Given the description of an element on the screen output the (x, y) to click on. 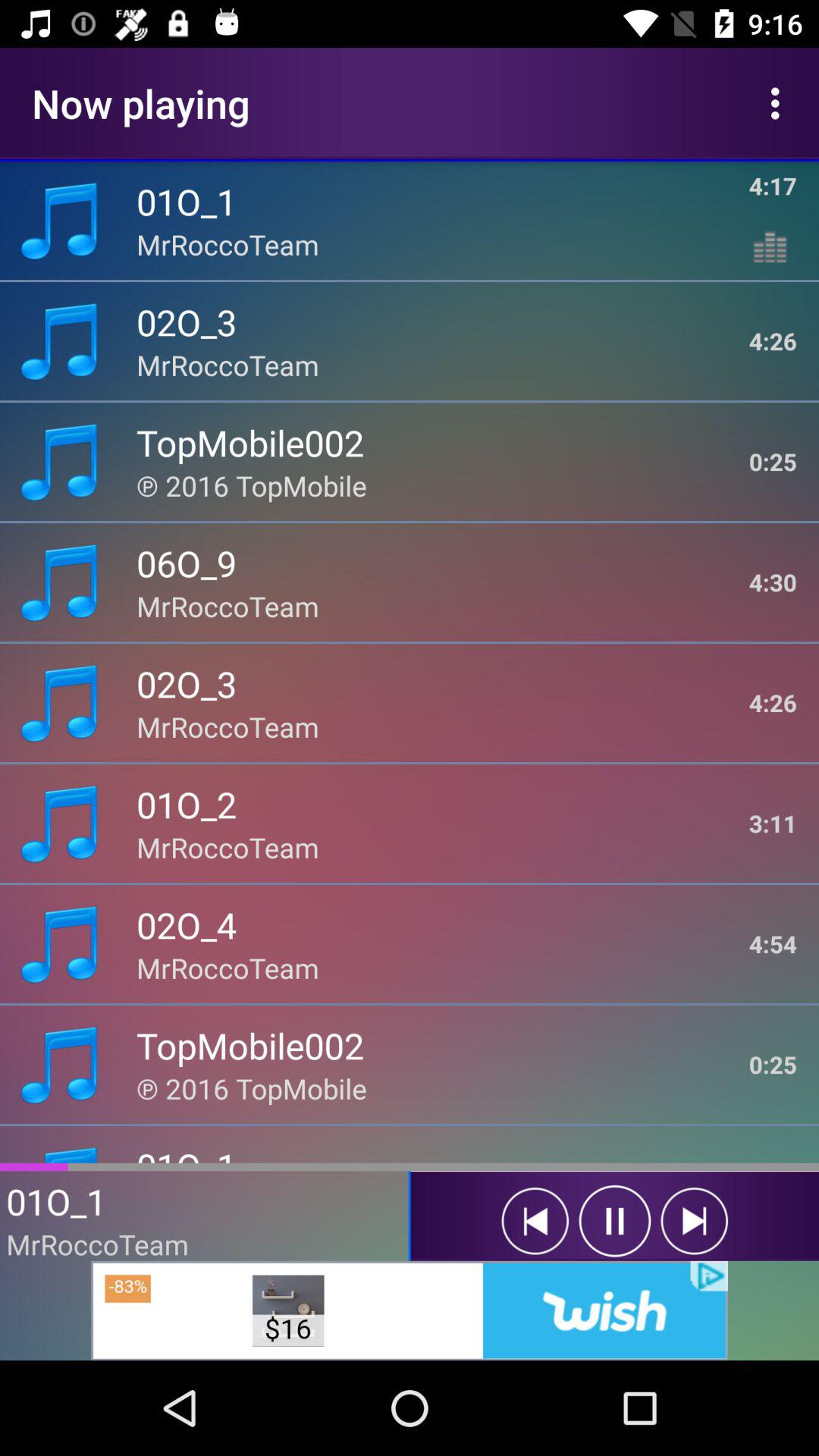
go back button (694, 1220)
